Given the description of an element on the screen output the (x, y) to click on. 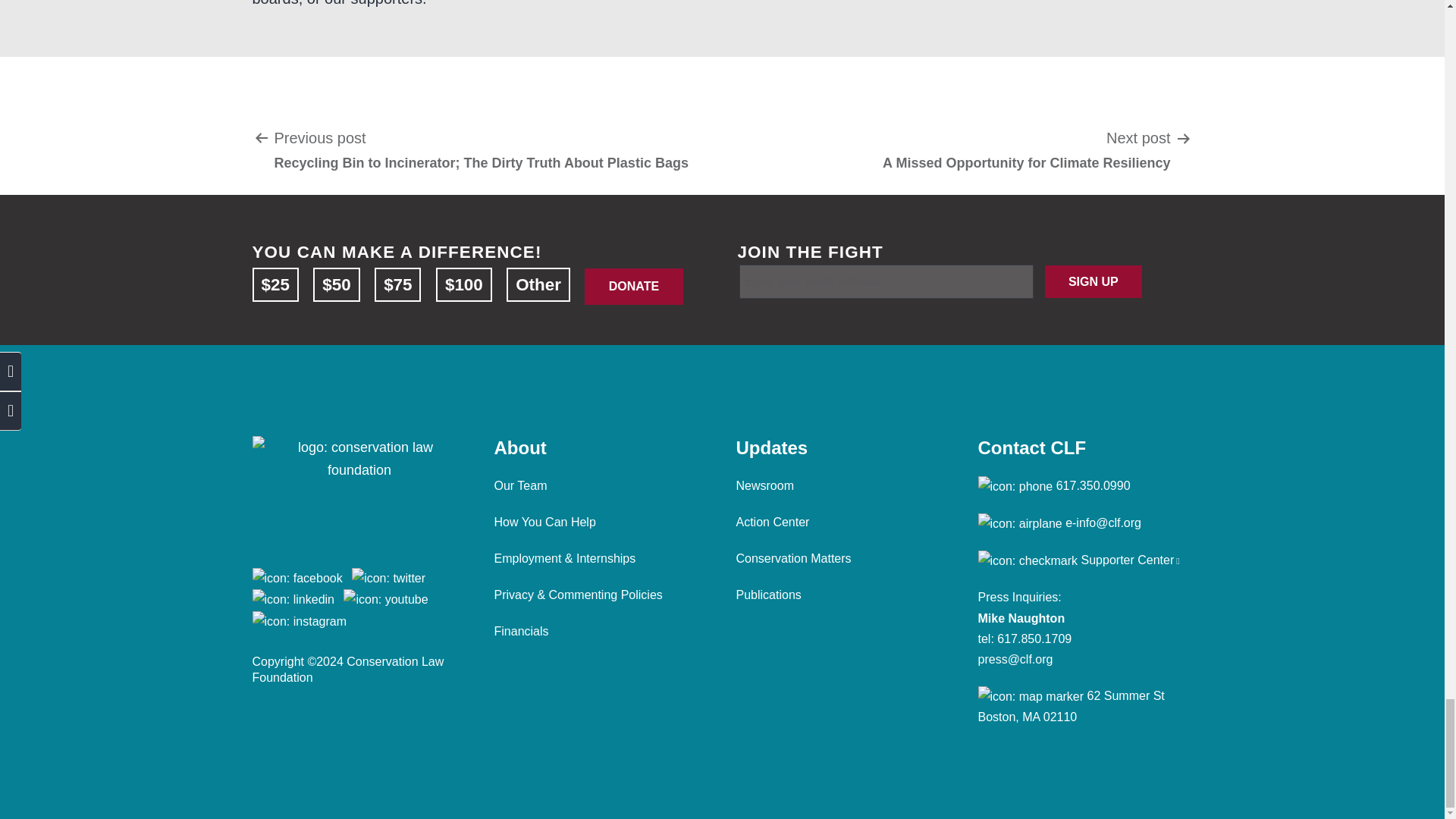
SIGN UP (1093, 281)
